Given the description of an element on the screen output the (x, y) to click on. 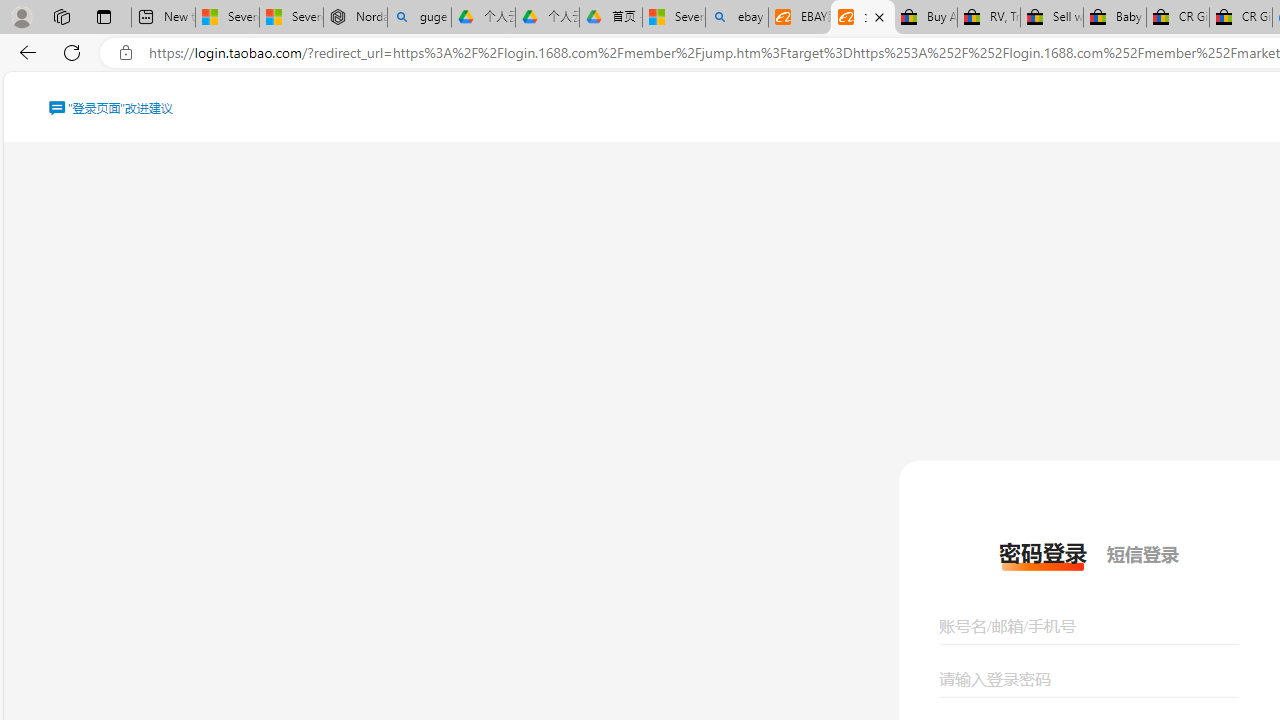
ebay - Search (736, 17)
guge yunpan - Search (418, 17)
Sell worldwide with eBay (1051, 17)
Baby Keepsakes & Announcements for sale | eBay (1114, 17)
RV, Trailer & Camper Steps & Ladders for sale | eBay (988, 17)
Nordace - Summer Adventures 2024 (354, 17)
View site information (125, 53)
